Given the description of an element on the screen output the (x, y) to click on. 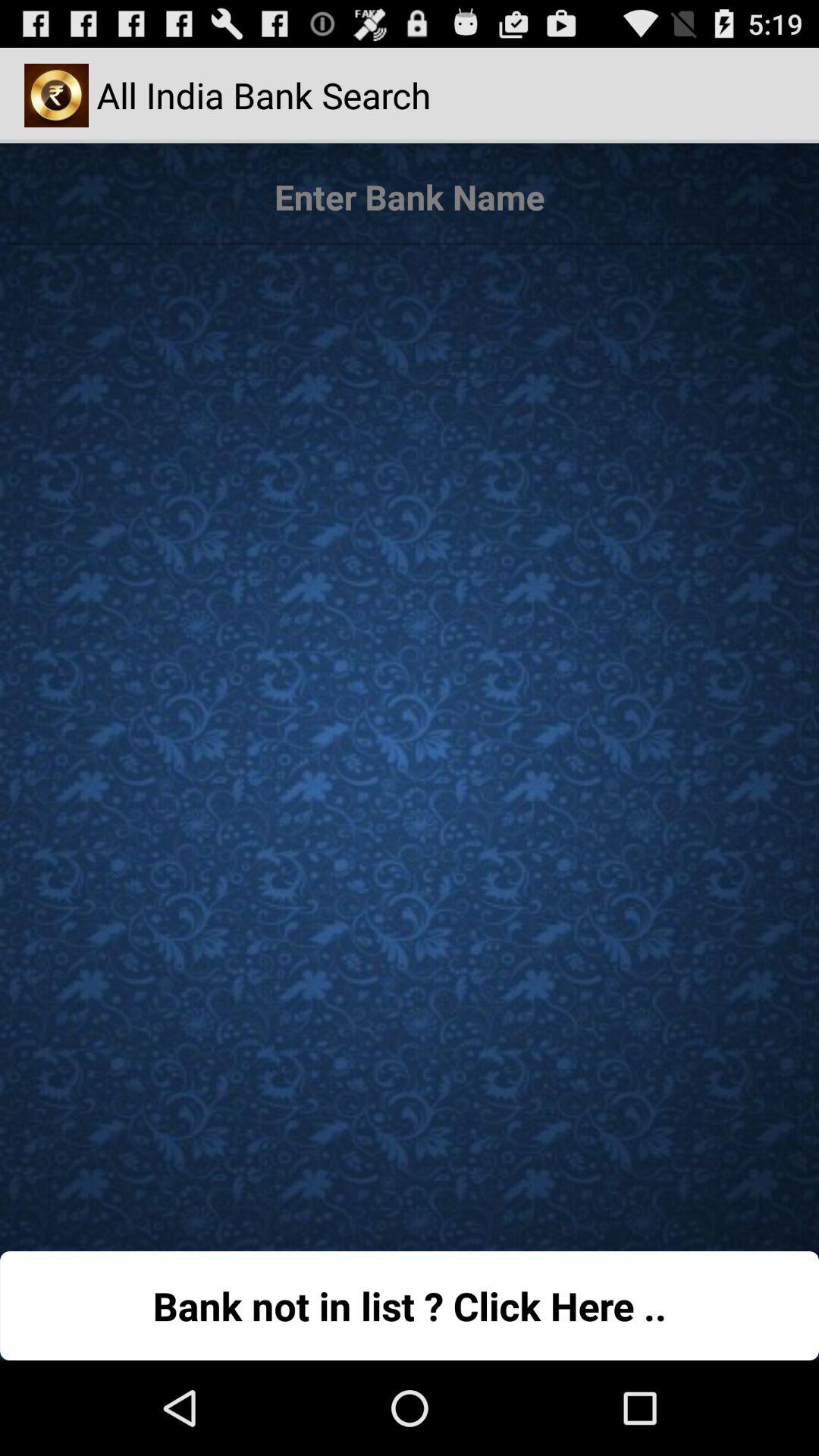
turn on bank not in item (409, 1305)
